Given the description of an element on the screen output the (x, y) to click on. 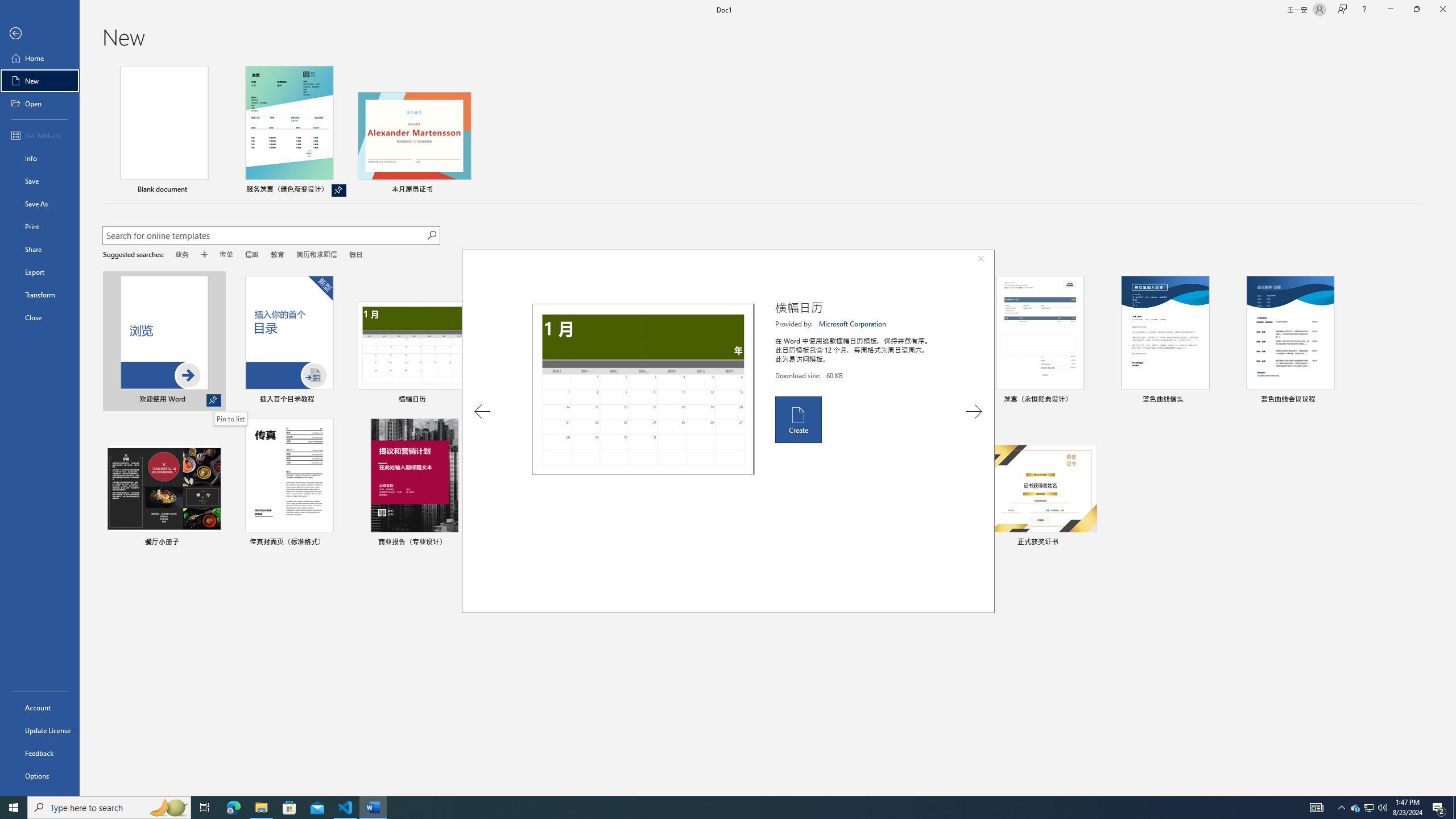
Previous Template (481, 411)
Get Add-ins (40, 134)
Account (40, 707)
